Given the description of an element on the screen output the (x, y) to click on. 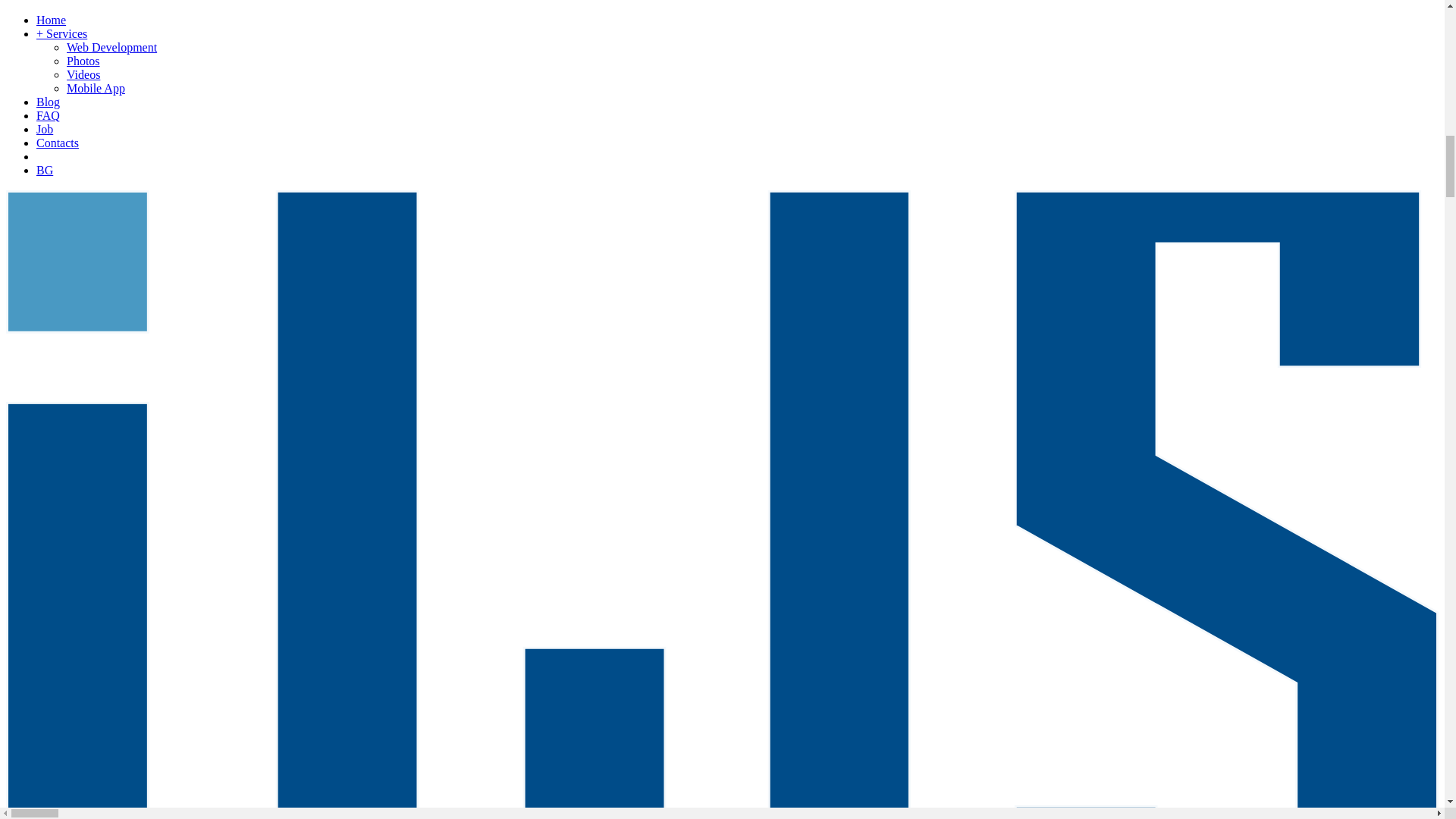
BG (44, 169)
Photos (83, 60)
Videos (83, 74)
FAQ (47, 115)
Mobile App (95, 88)
Web Development (111, 47)
Blog (47, 101)
Change your language to Bulgarian (44, 169)
Home (50, 19)
Job (44, 128)
Contacts (57, 142)
